Given the description of an element on the screen output the (x, y) to click on. 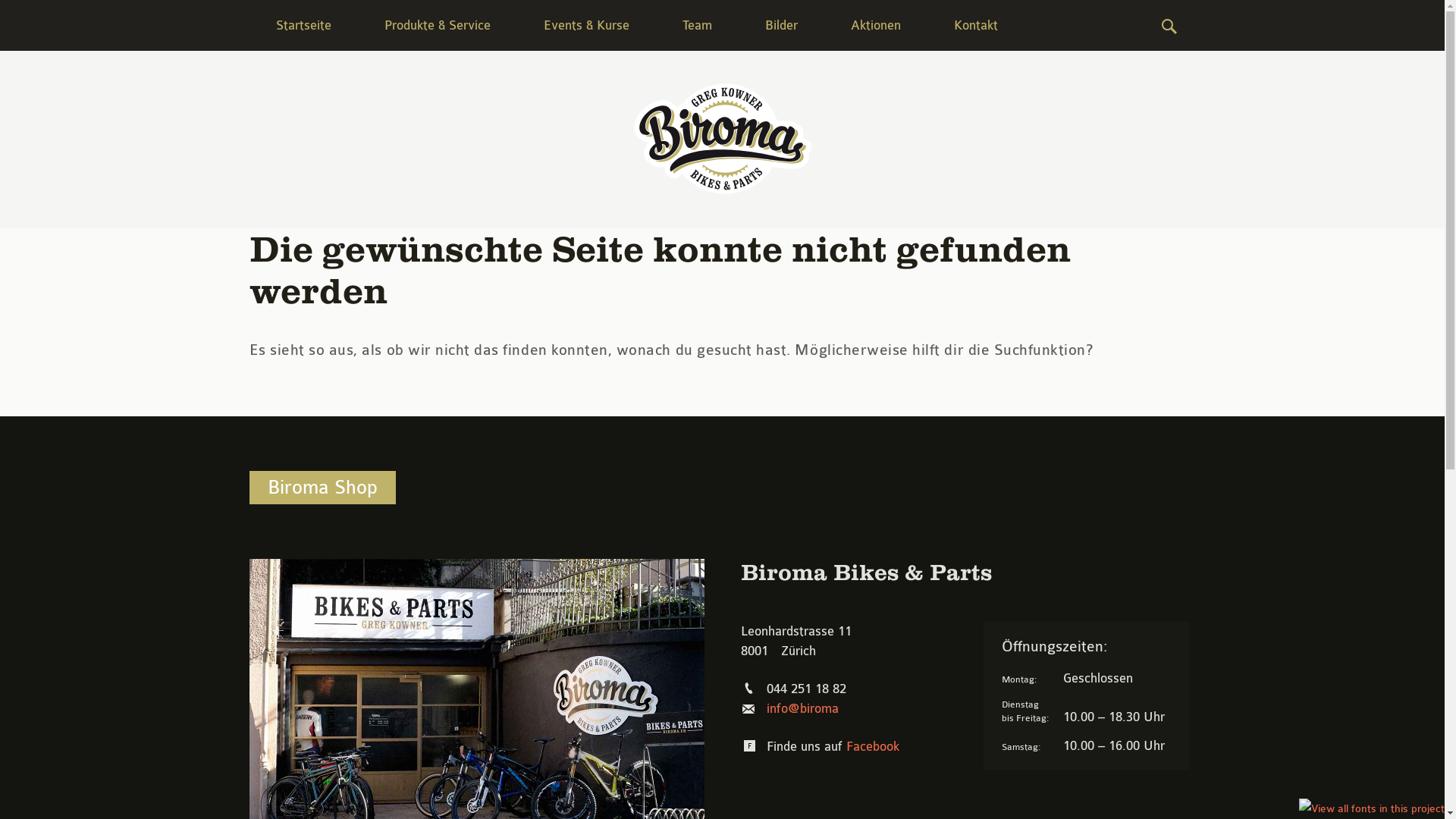
Facebook Element type: text (872, 746)
Produkte & Service Element type: text (437, 25)
Bilder Element type: text (781, 25)
Kontakt Element type: text (974, 25)
Team Element type: text (696, 25)
Biroma Bikes & Parts Element type: hover (721, 138)
Events & Kurse Element type: text (586, 25)
info@biroma Element type: text (801, 708)
Startseite Element type: text (302, 25)
Aktionen Element type: text (874, 25)
